Given the description of an element on the screen output the (x, y) to click on. 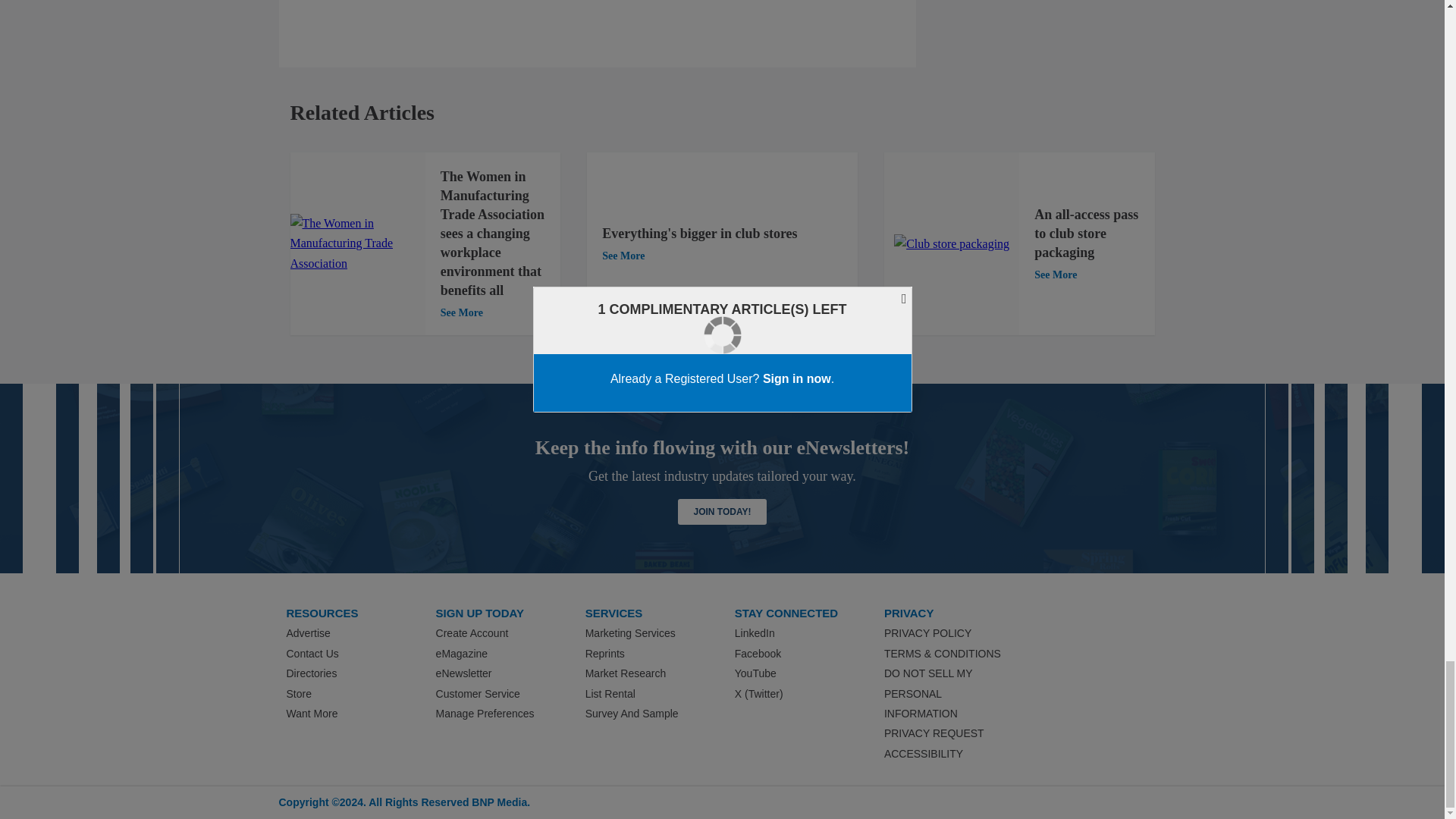
Club store packaging (951, 243)
Interaction questions (597, 4)
The Women in Manufacturing Trade Association (357, 243)
